Given the description of an element on the screen output the (x, y) to click on. 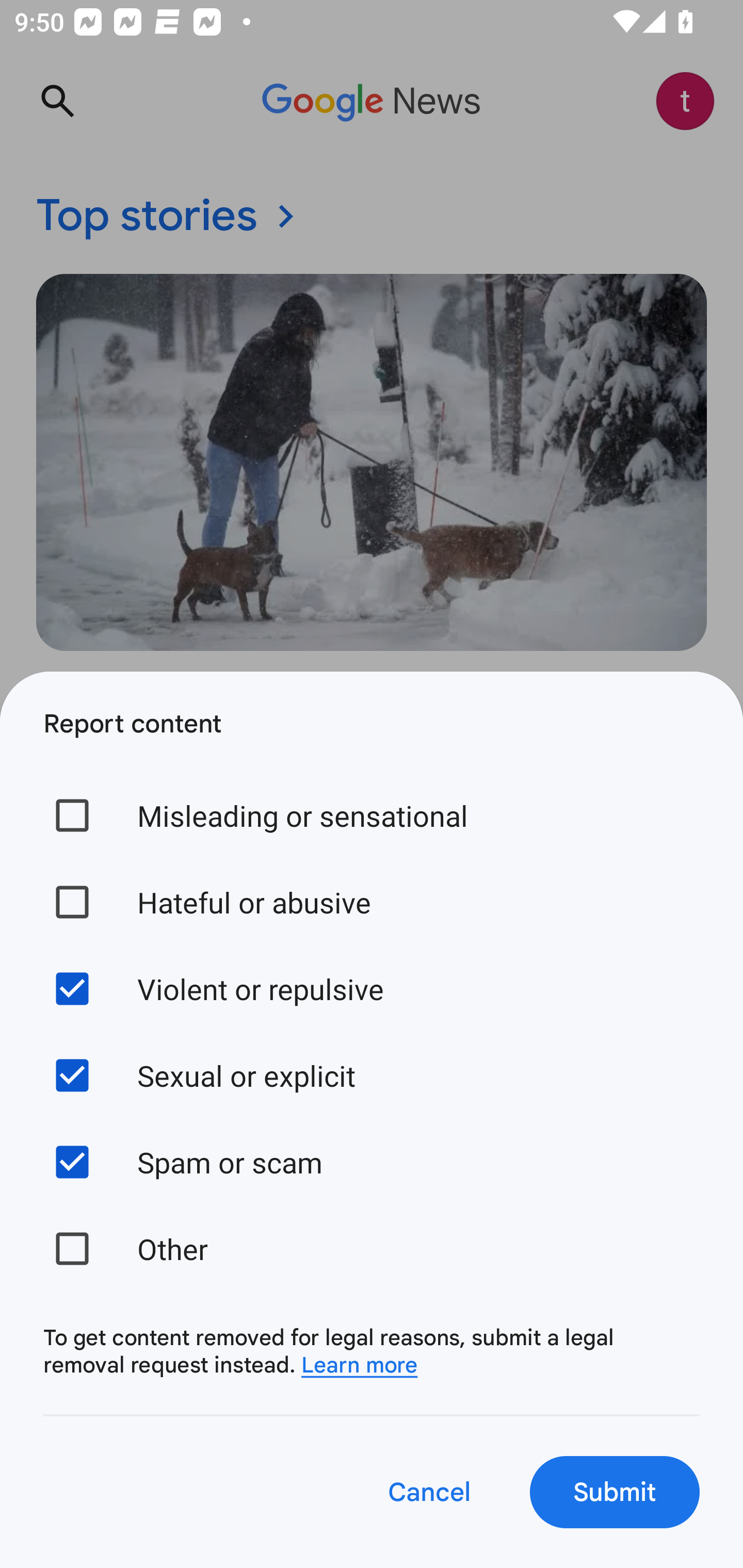
Misleading or sensational (371, 815)
Hateful or abusive (371, 902)
Violent or repulsive (371, 988)
Sexual or explicit (371, 1074)
Spam or scam (371, 1161)
Other (371, 1248)
Cancel (428, 1491)
Submit (614, 1491)
